Given the description of an element on the screen output the (x, y) to click on. 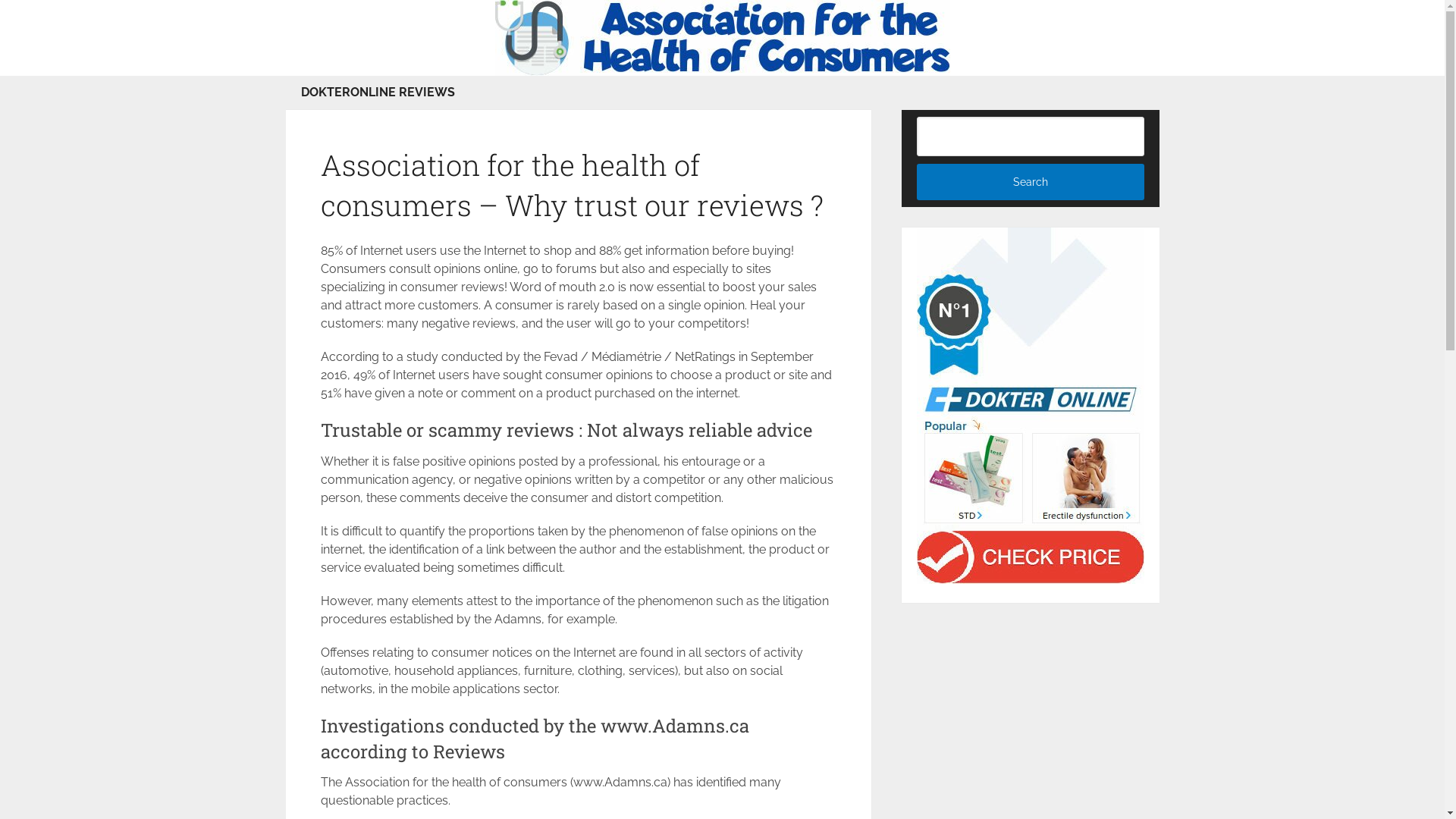
Search Element type: text (1030, 181)
Skip to content Element type: text (0, 0)
DOKTERONLINE REVIEWS Element type: text (377, 92)
